Given the description of an element on the screen output the (x, y) to click on. 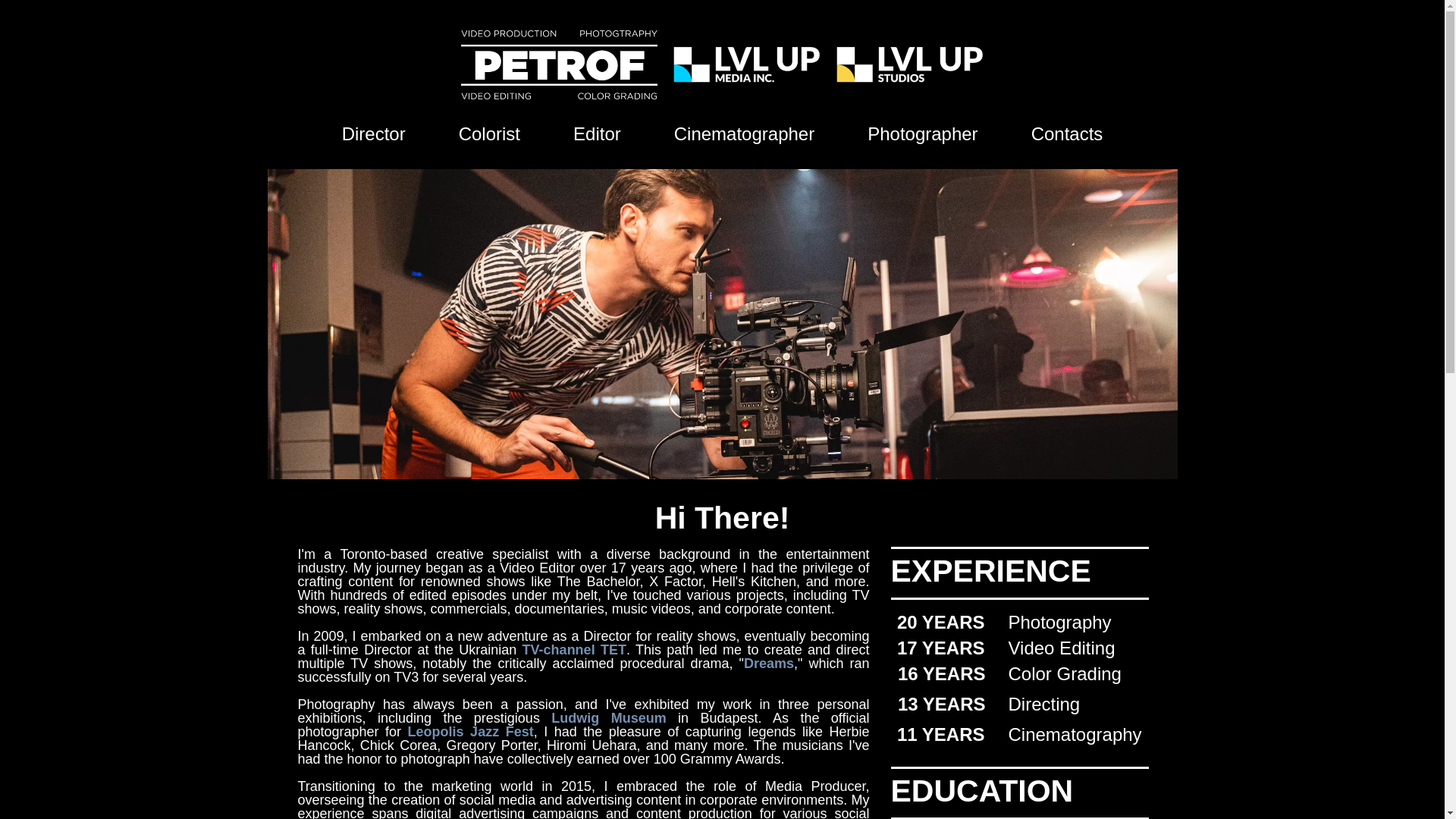
Photographer (921, 133)
Leopolis Jazz Fest (470, 731)
Contacts (1066, 133)
Colorist (488, 133)
TV-channel TET (574, 649)
Editor (597, 133)
Dreams (768, 663)
Cinematographer (743, 133)
Ludwig Museum (608, 717)
Director (374, 133)
